Given the description of an element on the screen output the (x, y) to click on. 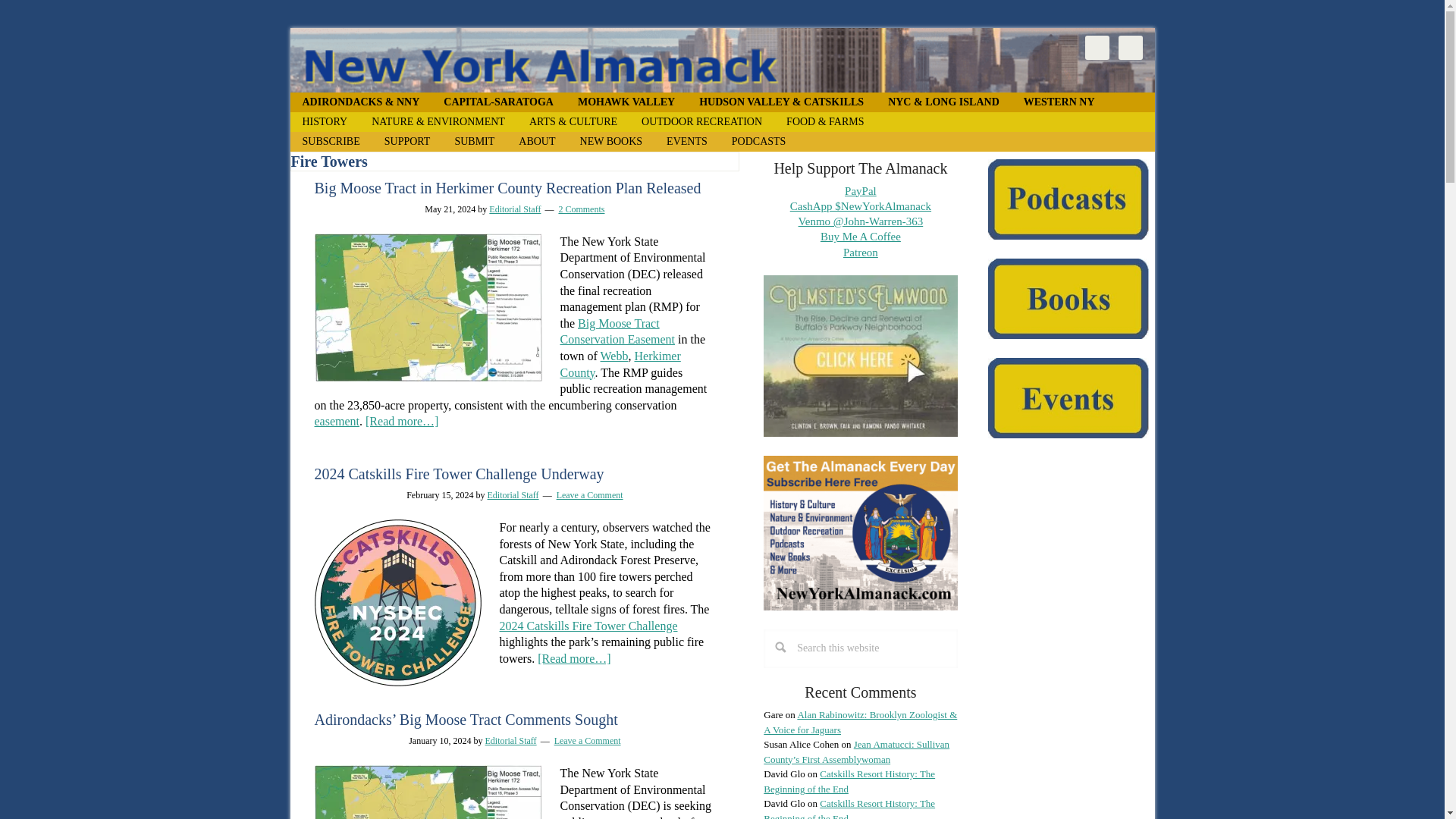
WESTERN NY (1058, 102)
ABOUT (536, 141)
Editorial Staff (514, 208)
EVENTS (686, 141)
Big Moose Tract in Herkimer County Recreation Plan Released (507, 187)
SUBSCRIBE (330, 141)
SUPPORT (407, 141)
PODCASTS (758, 141)
New York Almanack (721, 59)
